Given the description of an element on the screen output the (x, y) to click on. 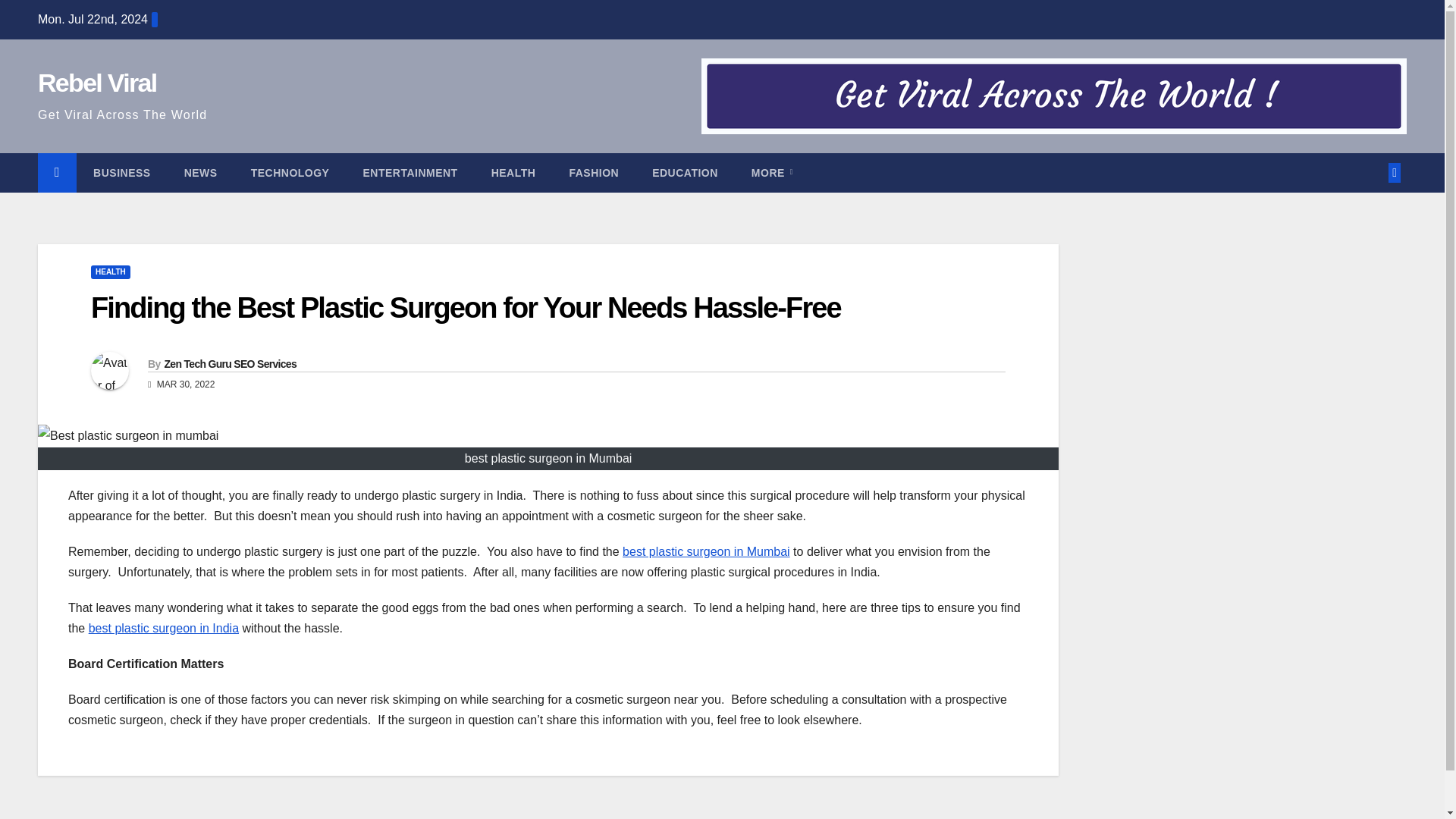
best plastic surgeon in Mumbai (706, 551)
Technology (290, 172)
Fashion (592, 172)
FASHION (592, 172)
Finding the Best Plastic Surgeon for Your Needs Hassle-Free (465, 307)
EDUCATION (684, 172)
HEALTH (110, 272)
TECHNOLOGY (290, 172)
ENTERTAINMENT (410, 172)
NEWS (200, 172)
Rebel Viral (96, 82)
Entertainment (410, 172)
best plastic surgeon in India (163, 627)
HEALTH (513, 172)
